Given the description of an element on the screen output the (x, y) to click on. 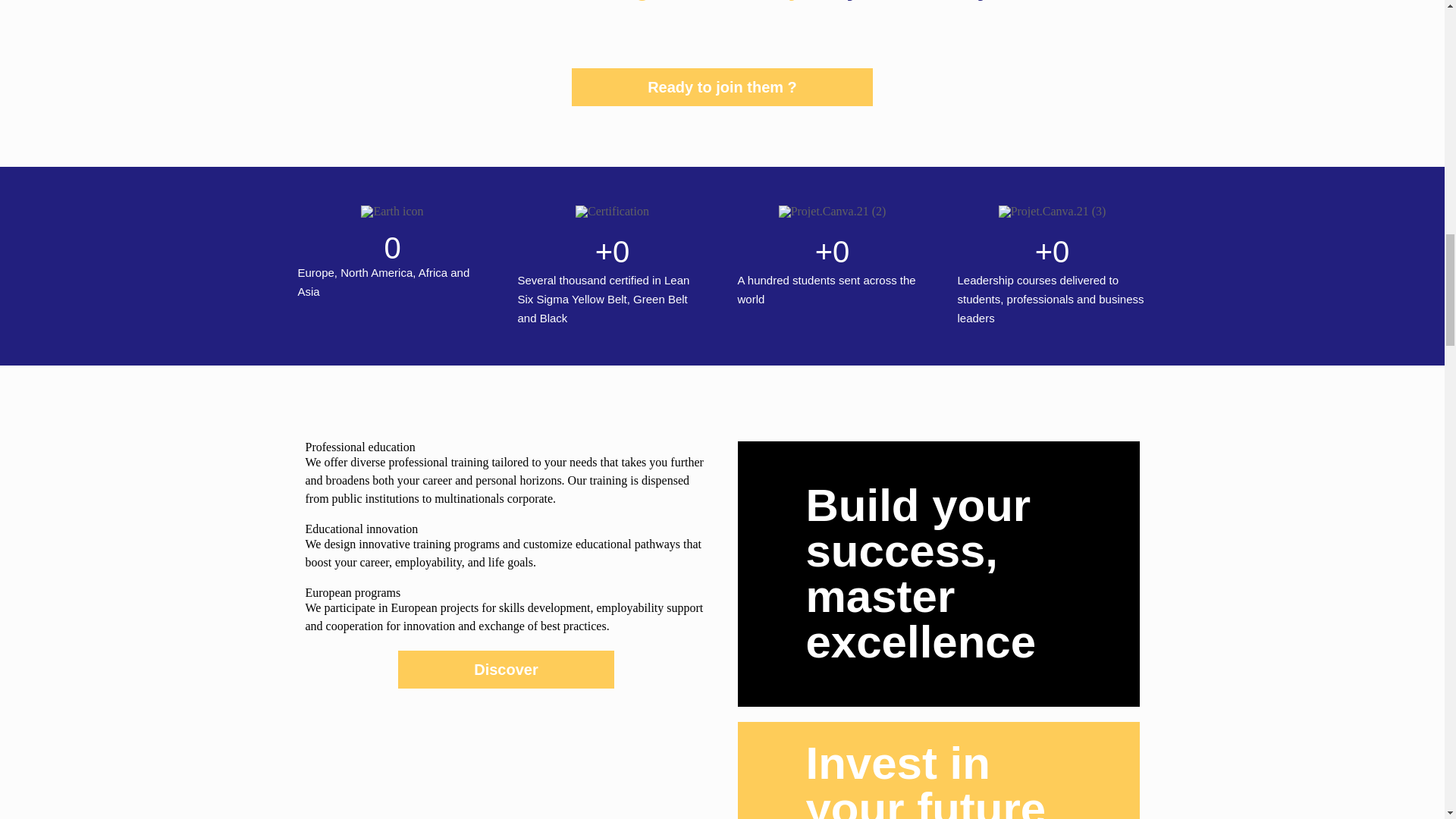
Discover (505, 669)
Certification (612, 211)
Ready to join them ? (722, 86)
Earth icon (392, 211)
